Given the description of an element on the screen output the (x, y) to click on. 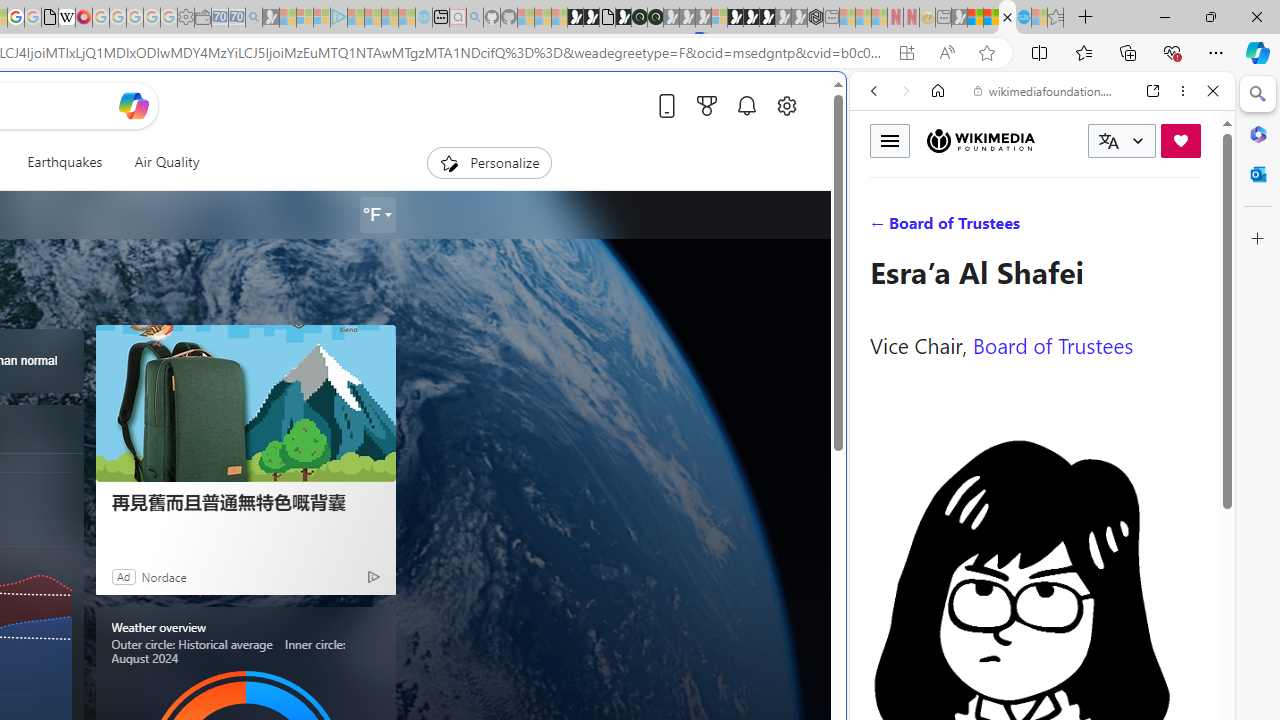
Toggle menu (890, 140)
Board of Trustees (1053, 344)
Weather settings (376, 215)
